Given the description of an element on the screen output the (x, y) to click on. 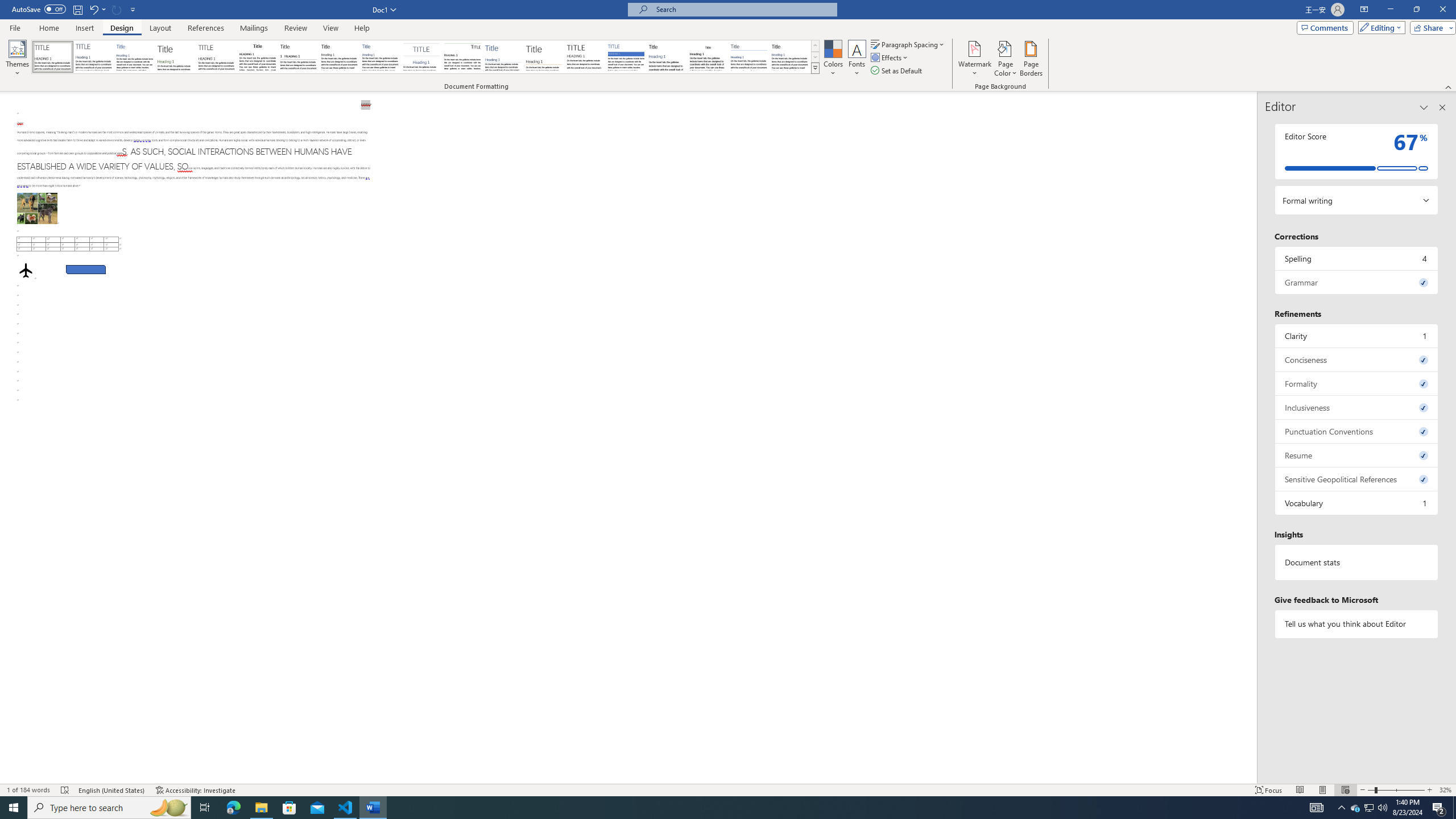
Word 2003 (707, 56)
Centered (421, 56)
Themes (17, 58)
Colors (832, 58)
Lines (Distinctive) (462, 56)
Black & White (Capitalized) (216, 56)
Spelling, 4 issues. Press space or enter to review items. (1356, 258)
Word 2013 (790, 56)
Paragraph Spacing (908, 44)
Document statistics (1356, 561)
